Given the description of an element on the screen output the (x, y) to click on. 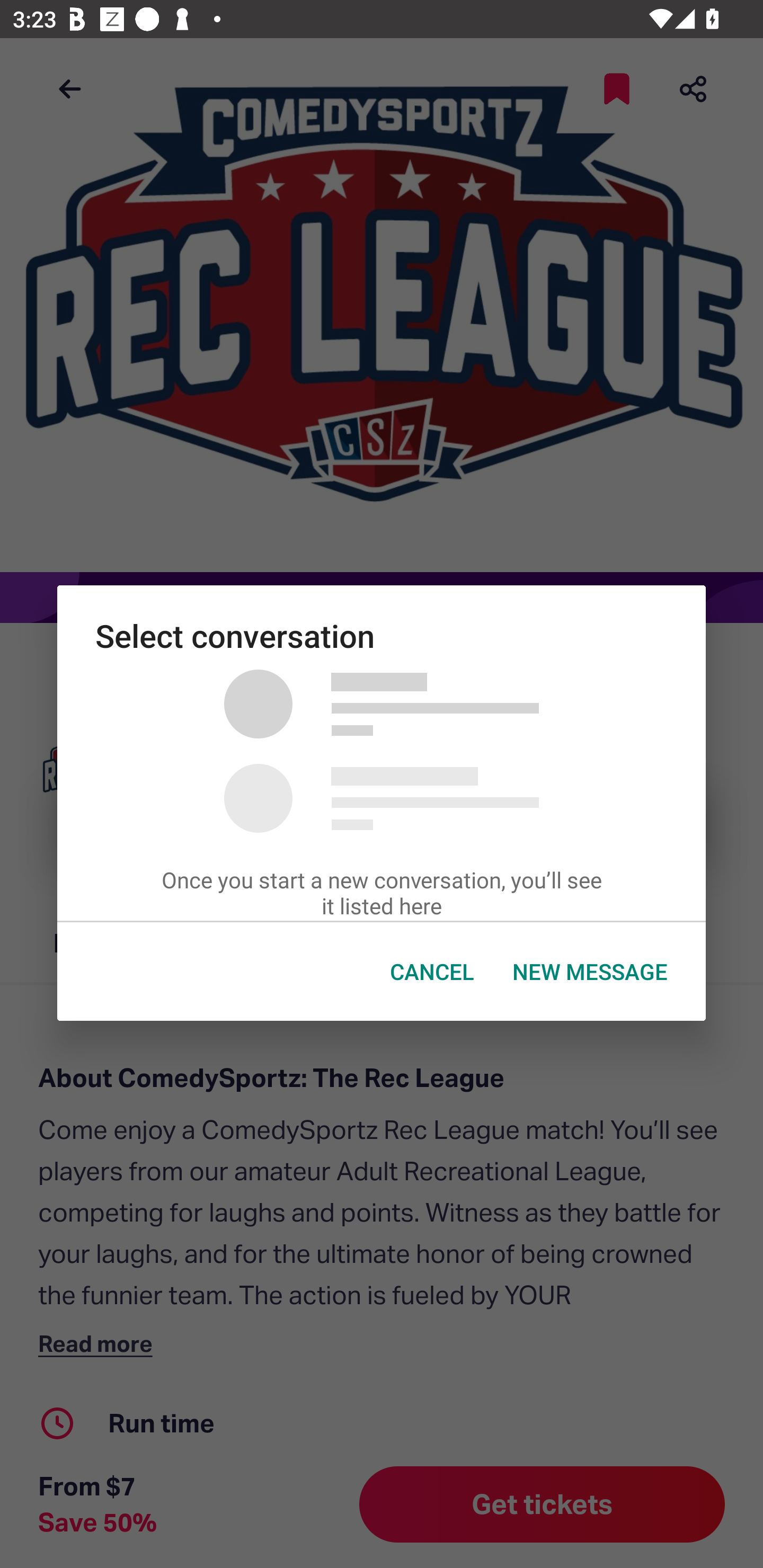
CANCEL (431, 971)
NEW MESSAGE (589, 971)
